Given the description of an element on the screen output the (x, y) to click on. 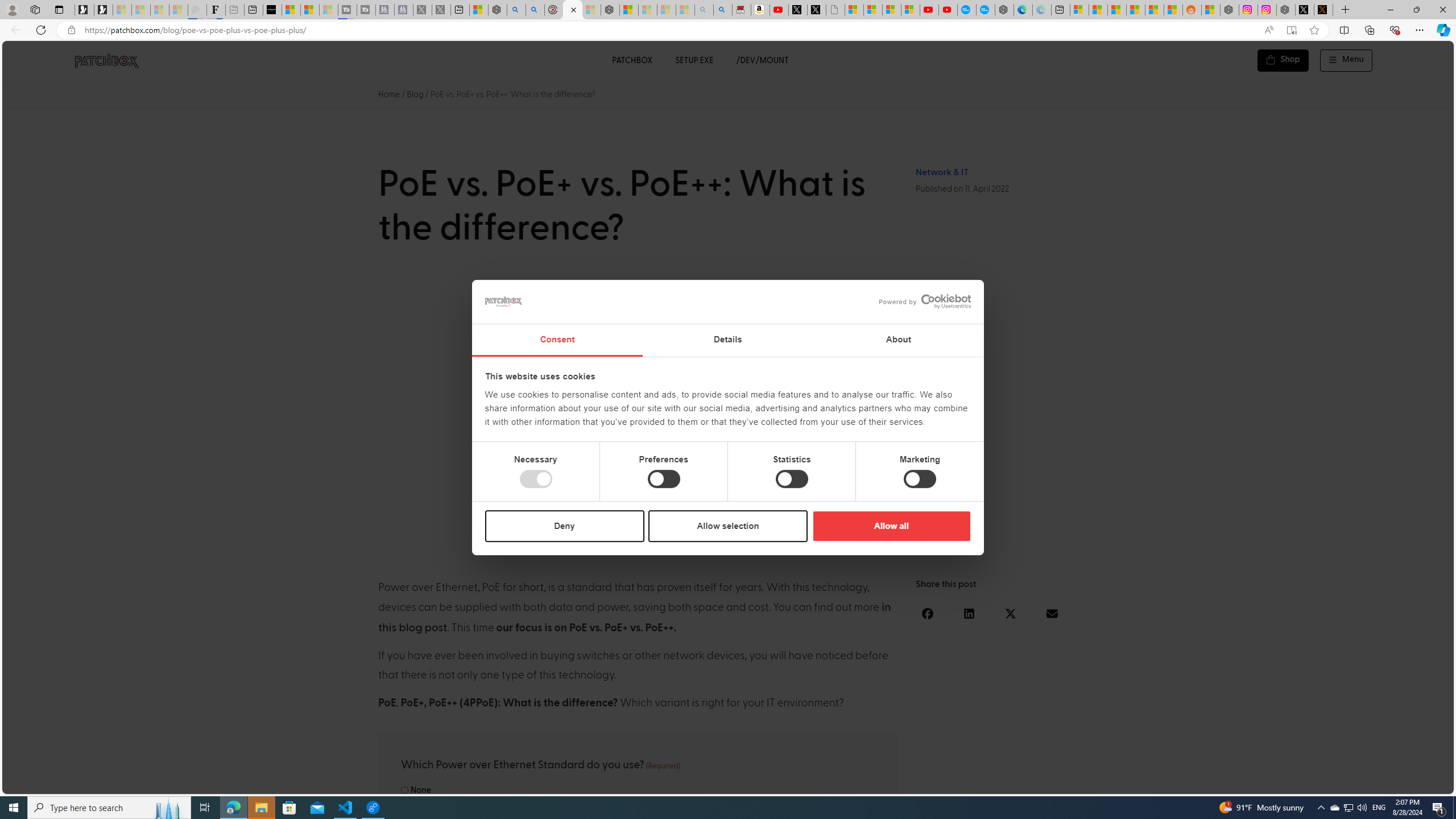
in this blog post (634, 617)
Language switcher : Greek (1380, 782)
Allow selection (727, 525)
Language switcher : Dutch (1276, 782)
SETUP.EXE (694, 60)
Language switcher : Spanish (1254, 782)
Nordace (@NordaceOfficial) / X (1304, 9)
PATCHBOX Simplify IT (114, 60)
